Given the description of an element on the screen output the (x, y) to click on. 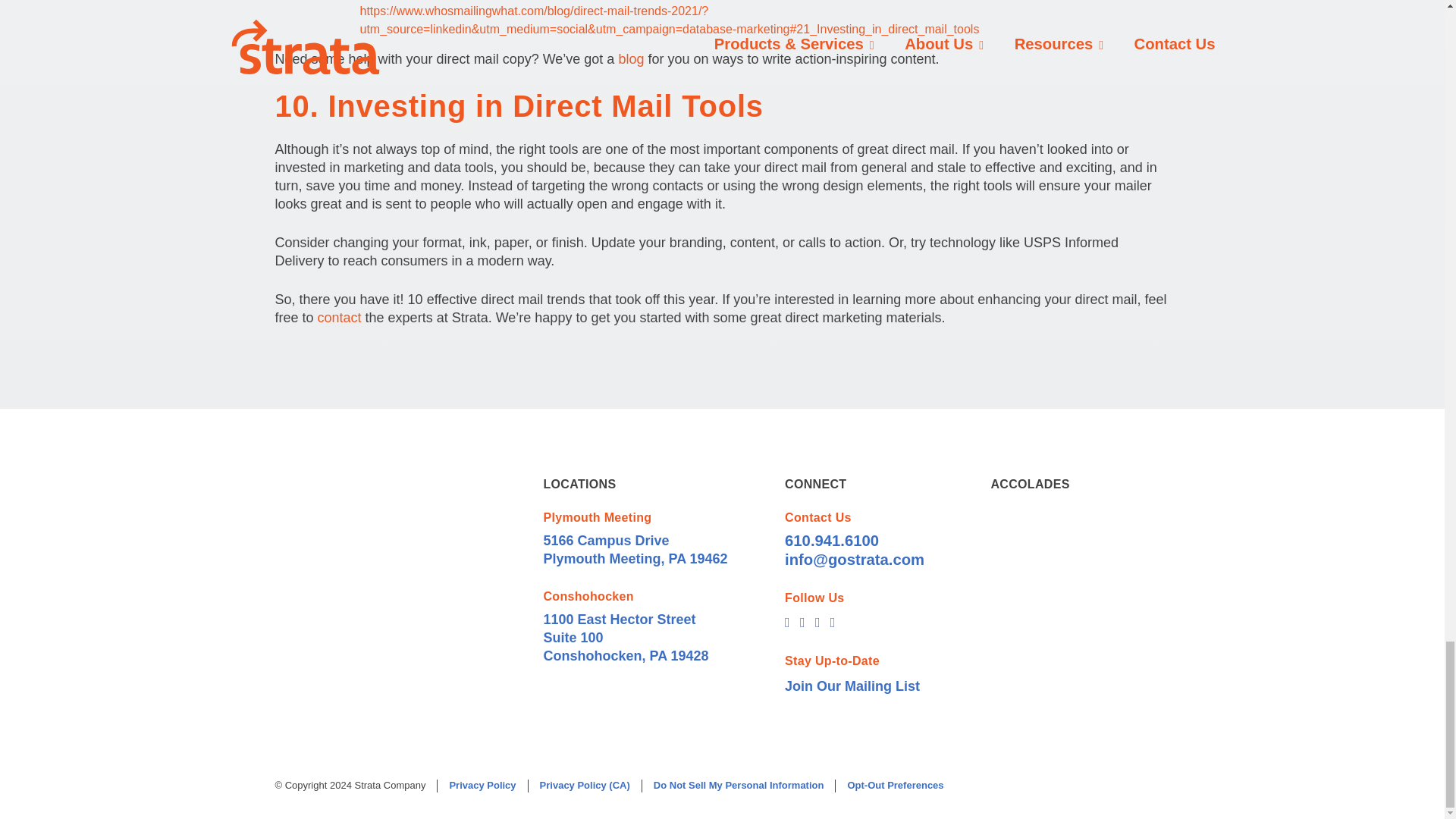
610.941.6100 (831, 540)
contact (339, 317)
1100 East Hector Street (619, 619)
blog (630, 58)
Suite 100 (572, 637)
Conshohocken, PA 19428 (625, 655)
